Given the description of an element on the screen output the (x, y) to click on. 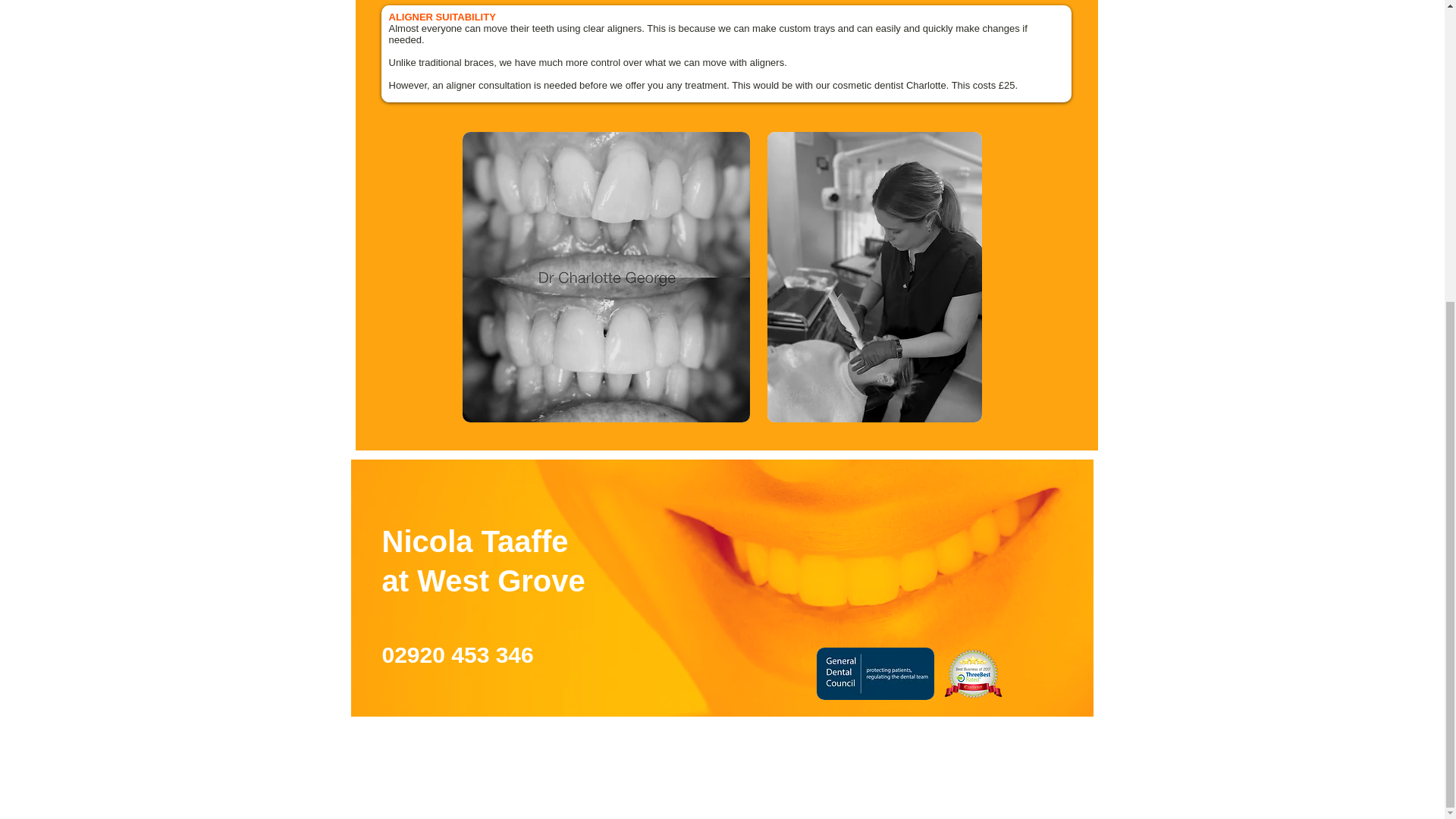
Terms and Conditions (993, 735)
ThreeBest Rated (972, 673)
Nicola Taaffe at (475, 560)
Privacy Policy (1016, 722)
GDC (874, 673)
